Given the description of an element on the screen output the (x, y) to click on. 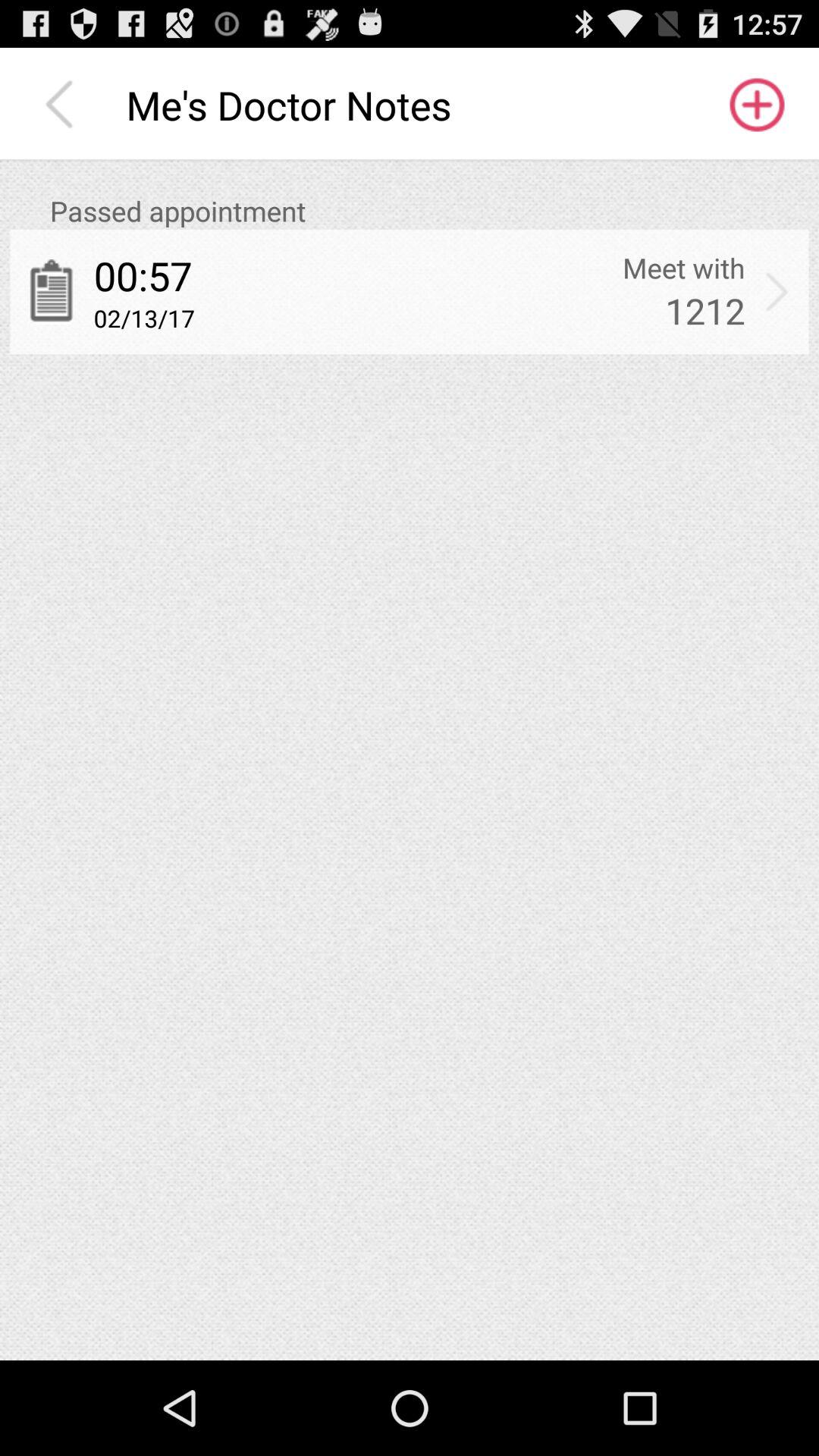
tap item next to meet with app (776, 291)
